Given the description of an element on the screen output the (x, y) to click on. 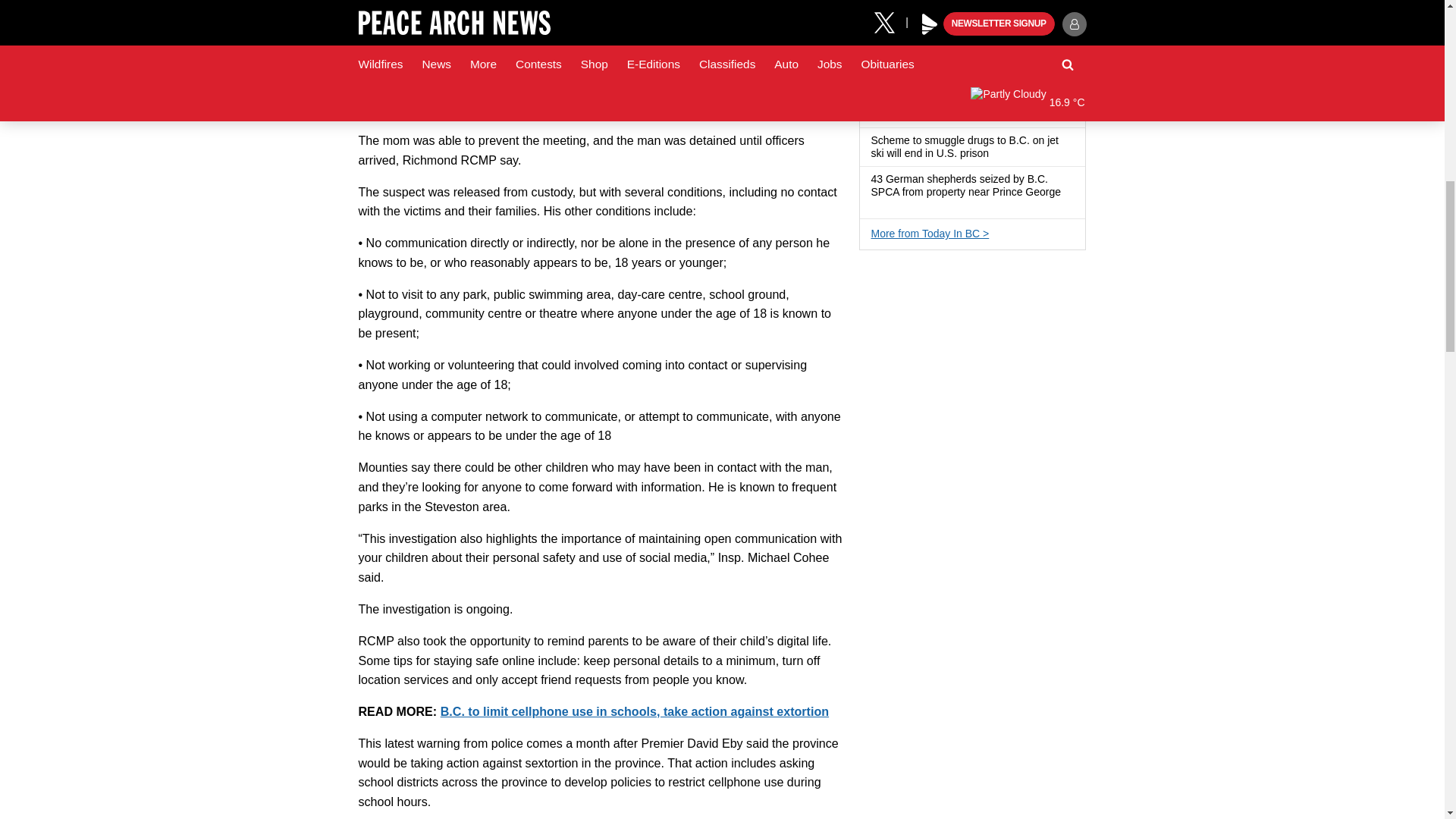
Has a gallery (876, 205)
